Given the description of an element on the screen output the (x, y) to click on. 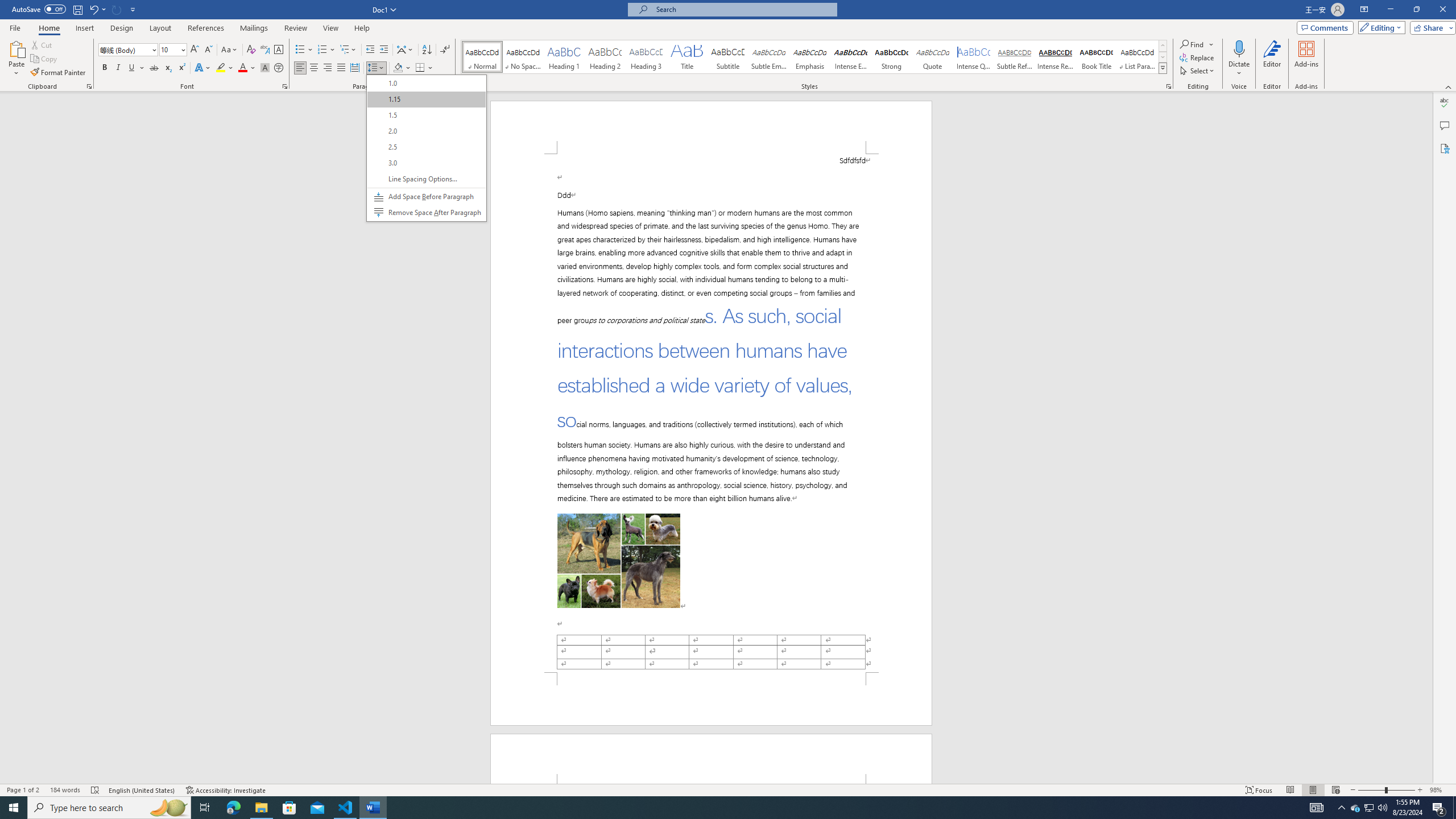
Phonetic Guide... (264, 49)
Language English (United States) (141, 790)
Notification Chevron (1341, 807)
Start (13, 807)
Show desktop (1454, 807)
Superscript (180, 67)
Sort... (426, 49)
Asian Layout (405, 49)
Increase Indent (383, 49)
Intense Emphasis (849, 56)
Align Left (300, 67)
Page 1 content (710, 412)
